Given the description of an element on the screen output the (x, y) to click on. 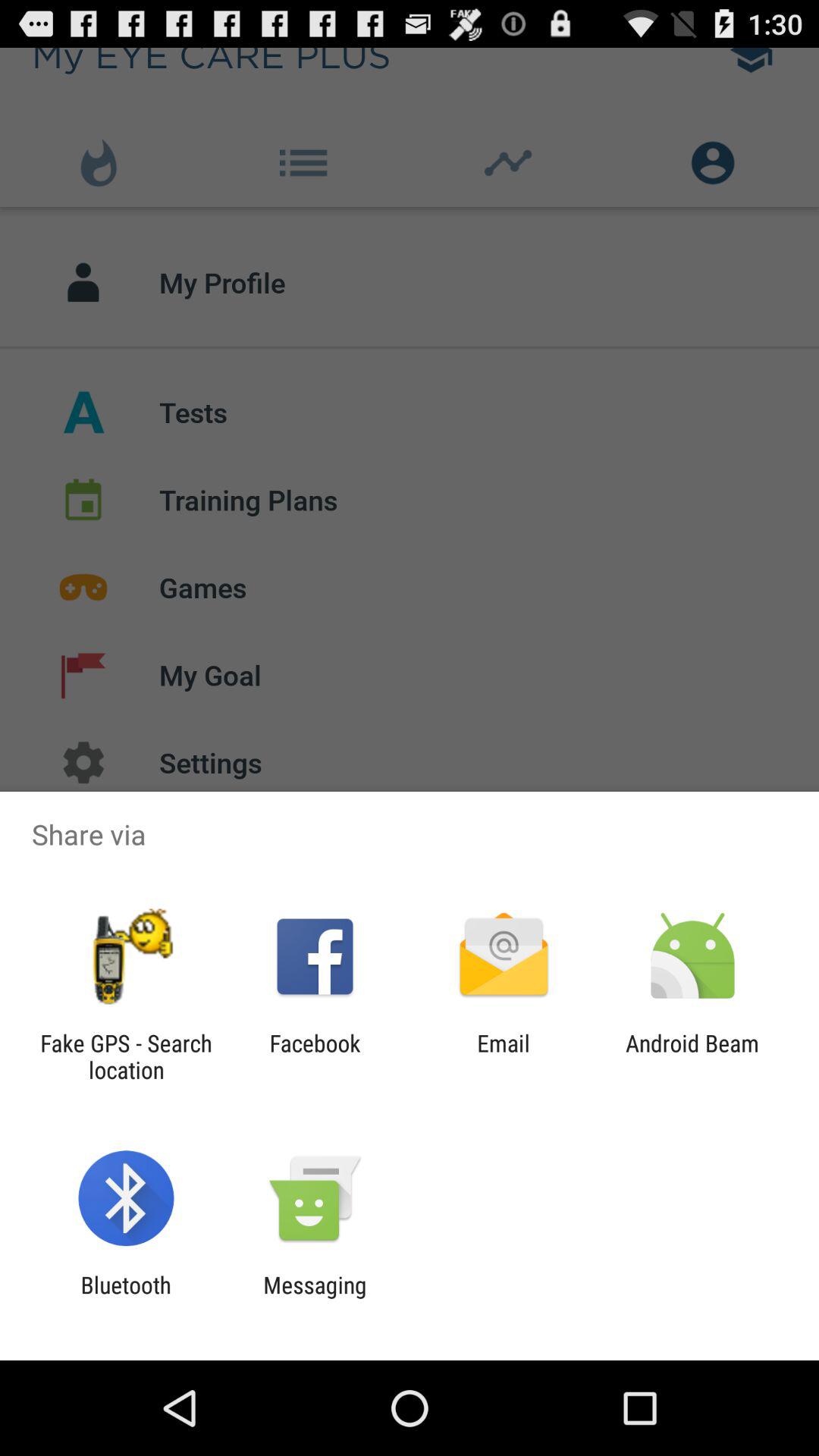
launch app next to the email app (314, 1056)
